Given the description of an element on the screen output the (x, y) to click on. 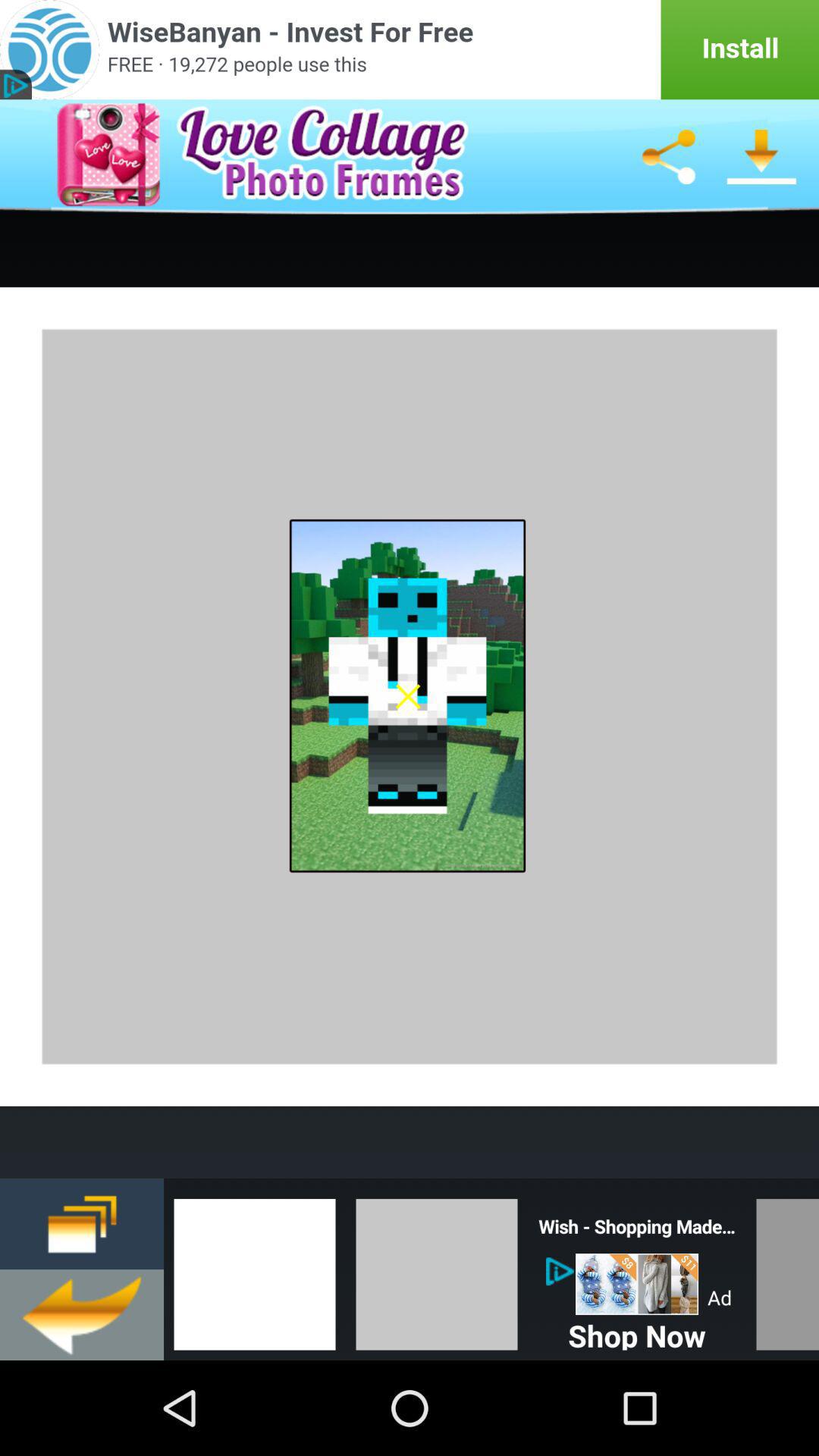
access wish website (636, 1283)
